Given the description of an element on the screen output the (x, y) to click on. 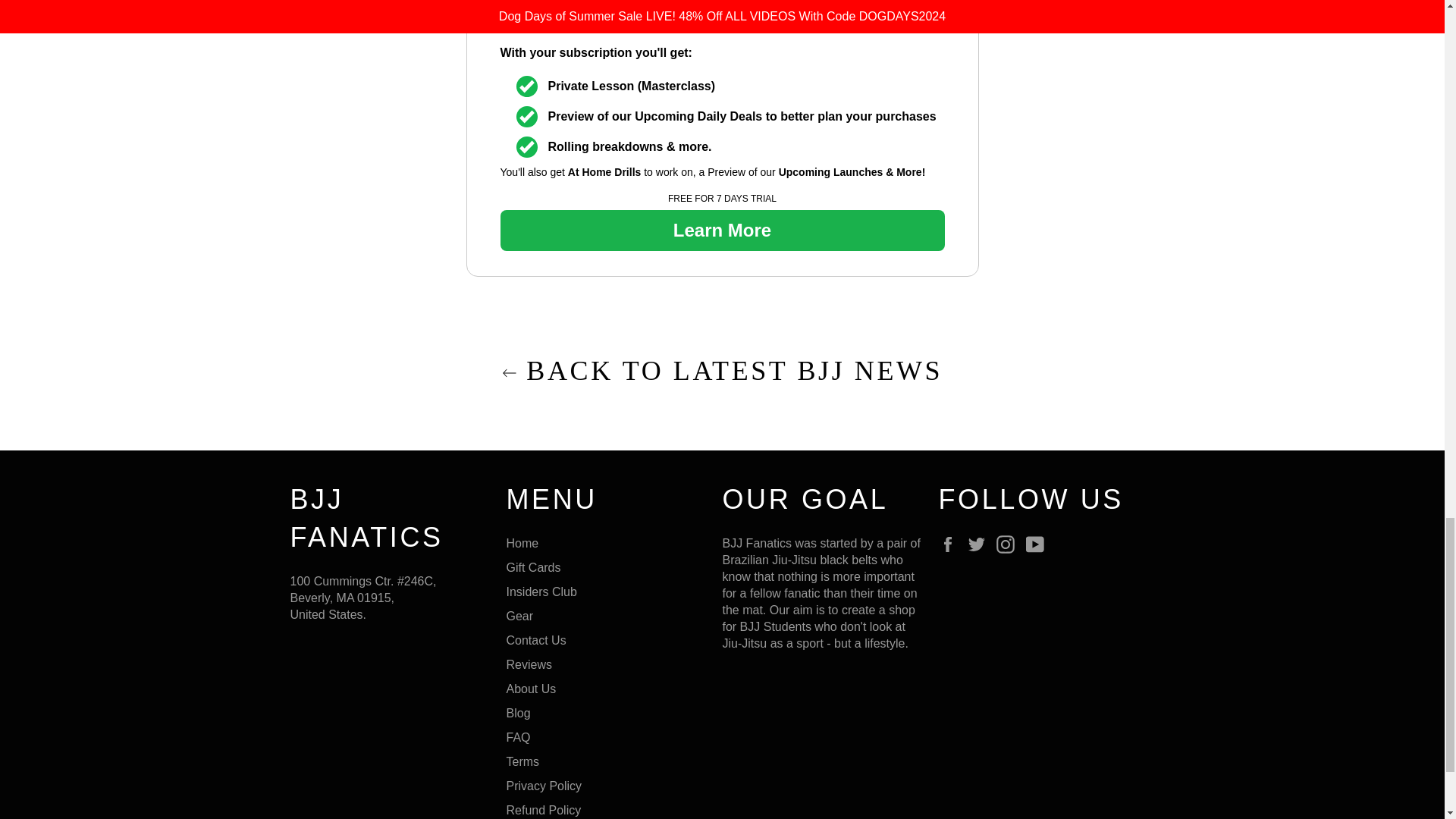
BJJ Fanatics on Instagram (1008, 544)
BJJ Fanatics on YouTube (1038, 544)
BJJ Fanatics on Twitter (980, 544)
BJJ Fanatics on Facebook (951, 544)
